Given the description of an element on the screen output the (x, y) to click on. 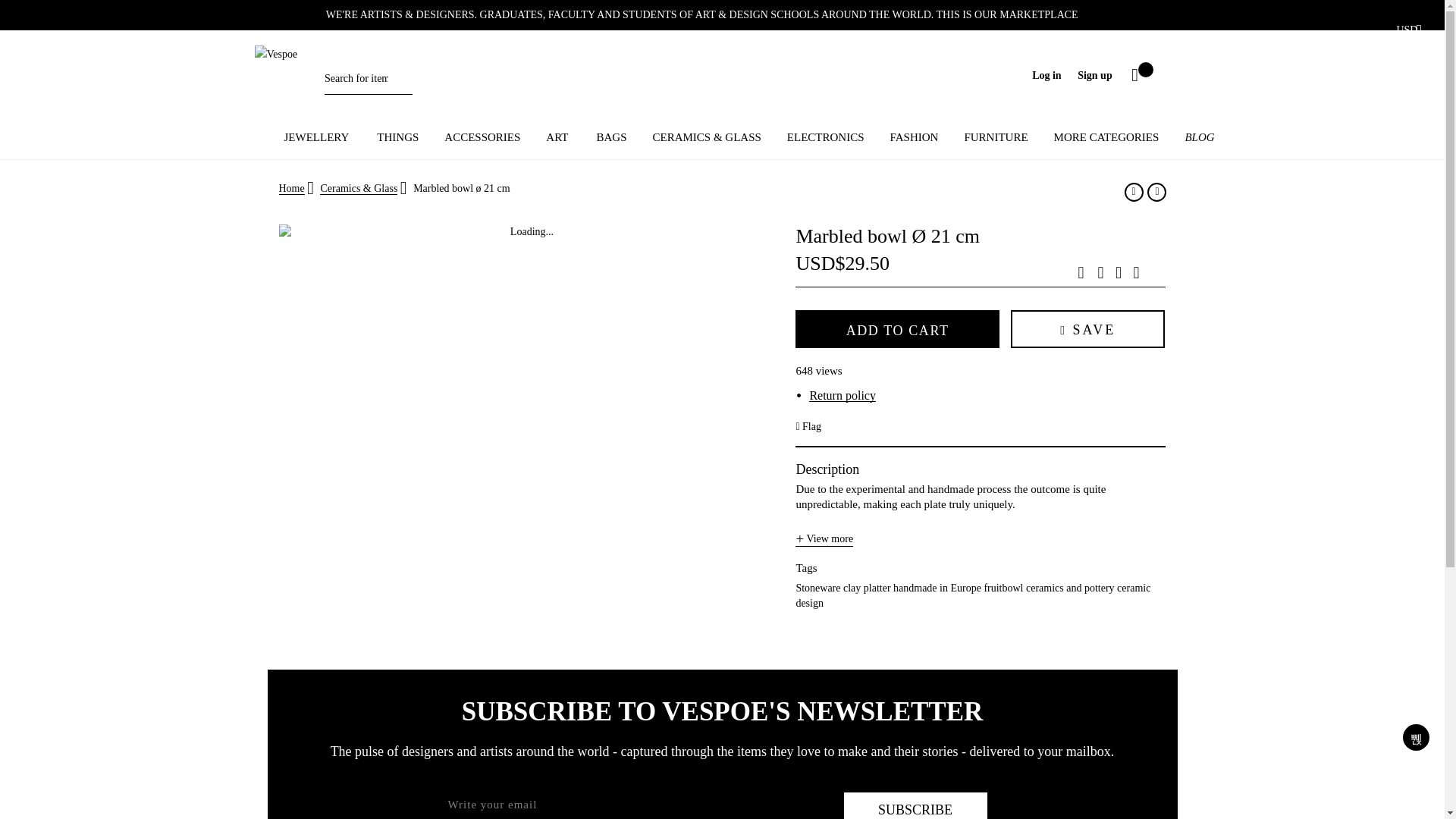
Go to Home Page (291, 188)
Subscribe now (915, 805)
Sign up (1094, 75)
Vespoe (367, 73)
JEWELLERY (317, 137)
Log in (1048, 75)
